Given the description of an element on the screen output the (x, y) to click on. 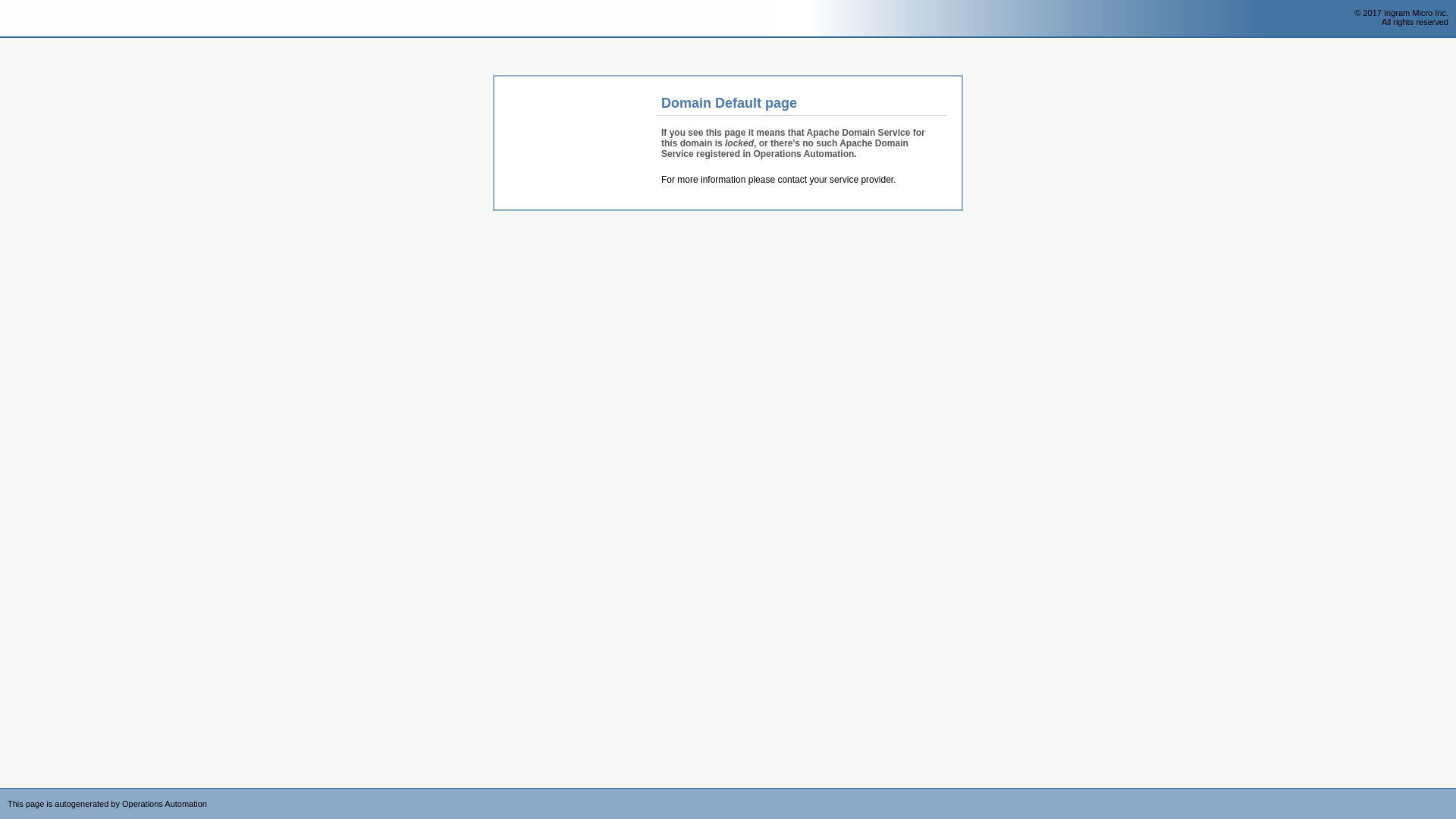
Operations Automation Element type: text (39, 18)
Powered by CloudBlue Commerce Element type: hover (1447, 792)
